Given the description of an element on the screen output the (x, y) to click on. 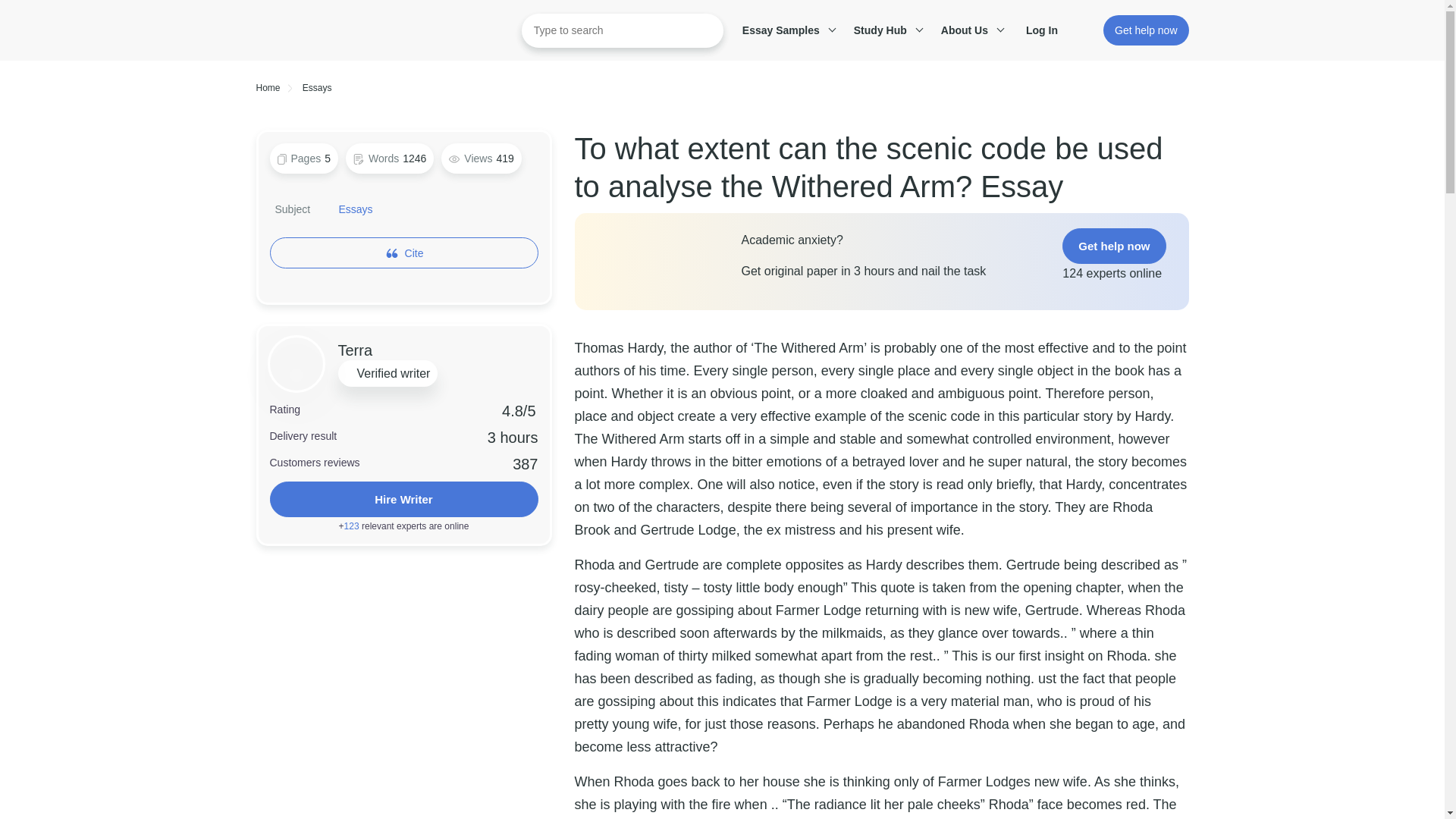
Cite (403, 252)
Home (268, 87)
Cite (413, 253)
Essay Samples (786, 30)
Essays (355, 209)
Essays (316, 87)
About Us (970, 30)
Study Hub (886, 30)
Log In (1049, 30)
